Given the description of an element on the screen output the (x, y) to click on. 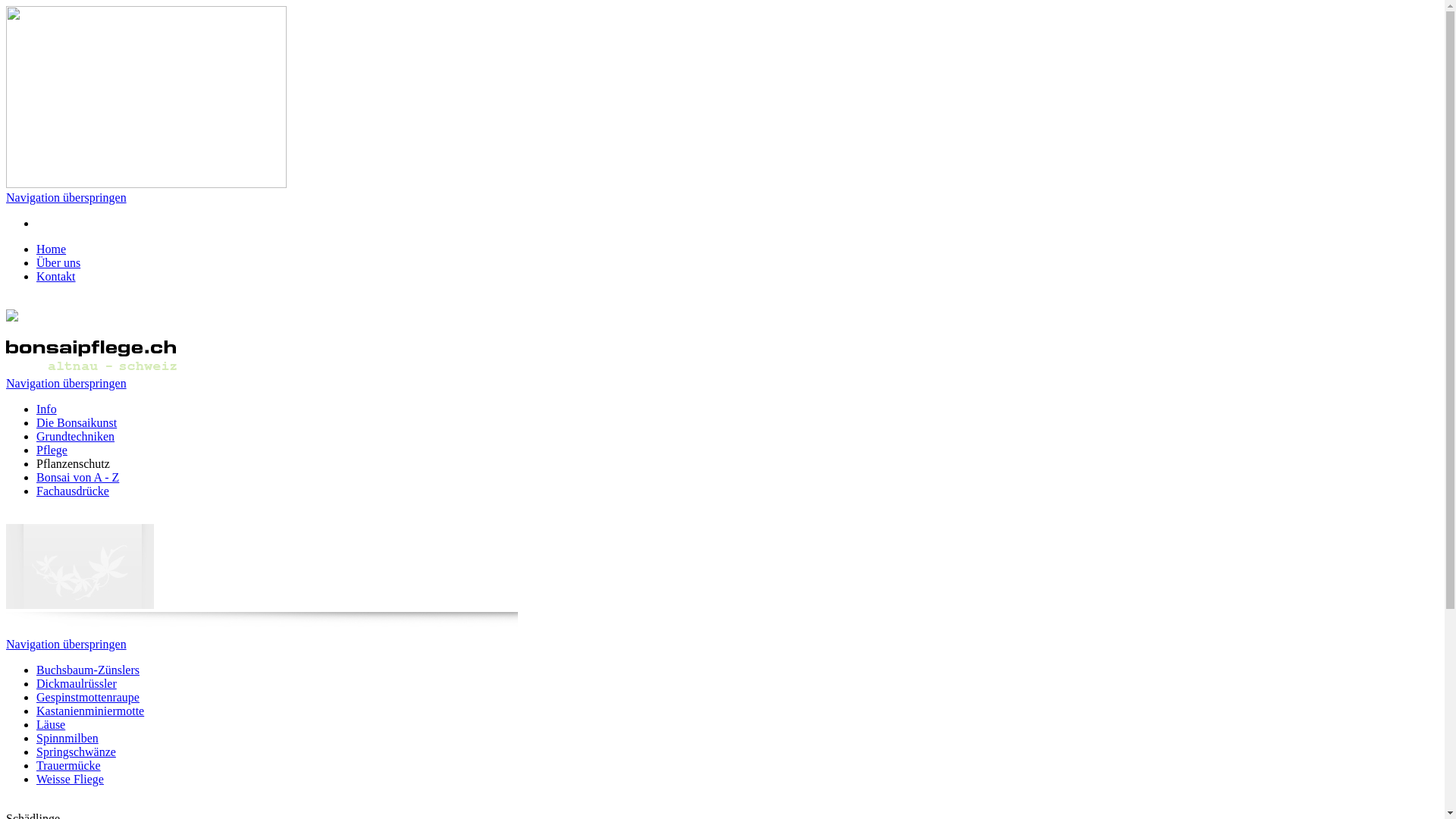
Spinnmilben Element type: text (67, 737)
  Element type: text (7, 516)
Die Bonsaikunst Element type: text (76, 422)
Bonsai von A - Z Element type: text (77, 476)
  Element type: text (7, 804)
Kastanienminiermotte Element type: text (90, 710)
Grundtechniken Element type: text (75, 435)
Home Element type: text (50, 248)
Pflege Element type: text (51, 449)
Kontakt Element type: text (55, 275)
Weisse Fliege Element type: text (69, 778)
  Element type: text (7, 301)
Gespinstmottenraupe Element type: text (87, 696)
Info Element type: text (46, 408)
